Given the description of an element on the screen output the (x, y) to click on. 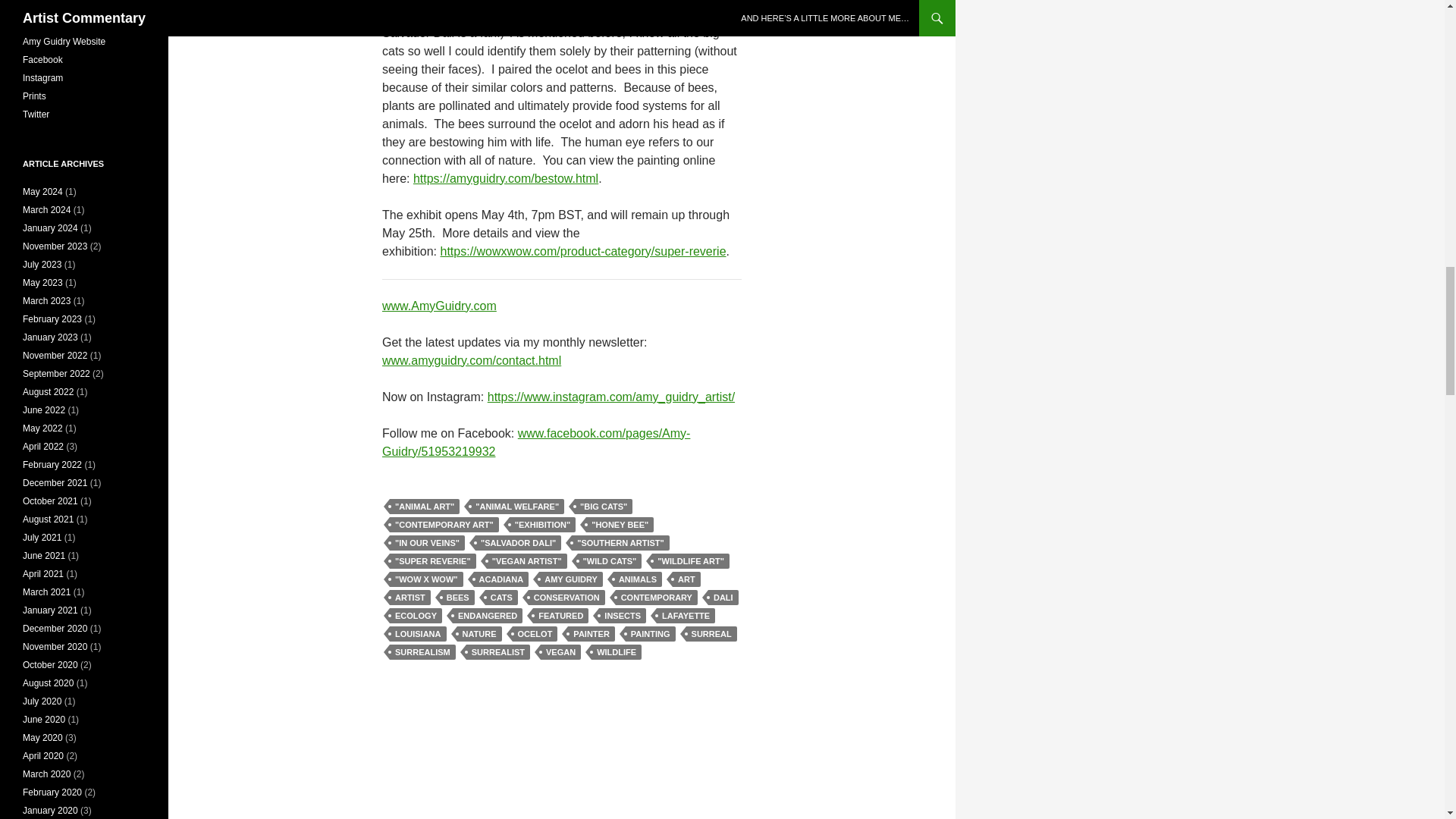
"SOUTHERN ARTIST" (620, 542)
"VEGAN ARTIST" (526, 560)
"ANIMAL WELFARE" (517, 506)
ANIMALS (637, 579)
"SUPER REVERIE" (433, 560)
"WOW X WOW" (426, 579)
"HONEY BEE" (619, 524)
"SALVADOR DALI" (518, 542)
"EXHIBITION" (542, 524)
ACADIANA (501, 579)
"CONTEMPORARY ART" (444, 524)
Amy Guidry Artist Twitter Page (36, 113)
www.AmyGuidry.com (438, 305)
ARTIST (410, 597)
"IN OUR VEINS" (427, 542)
